Given the description of an element on the screen output the (x, y) to click on. 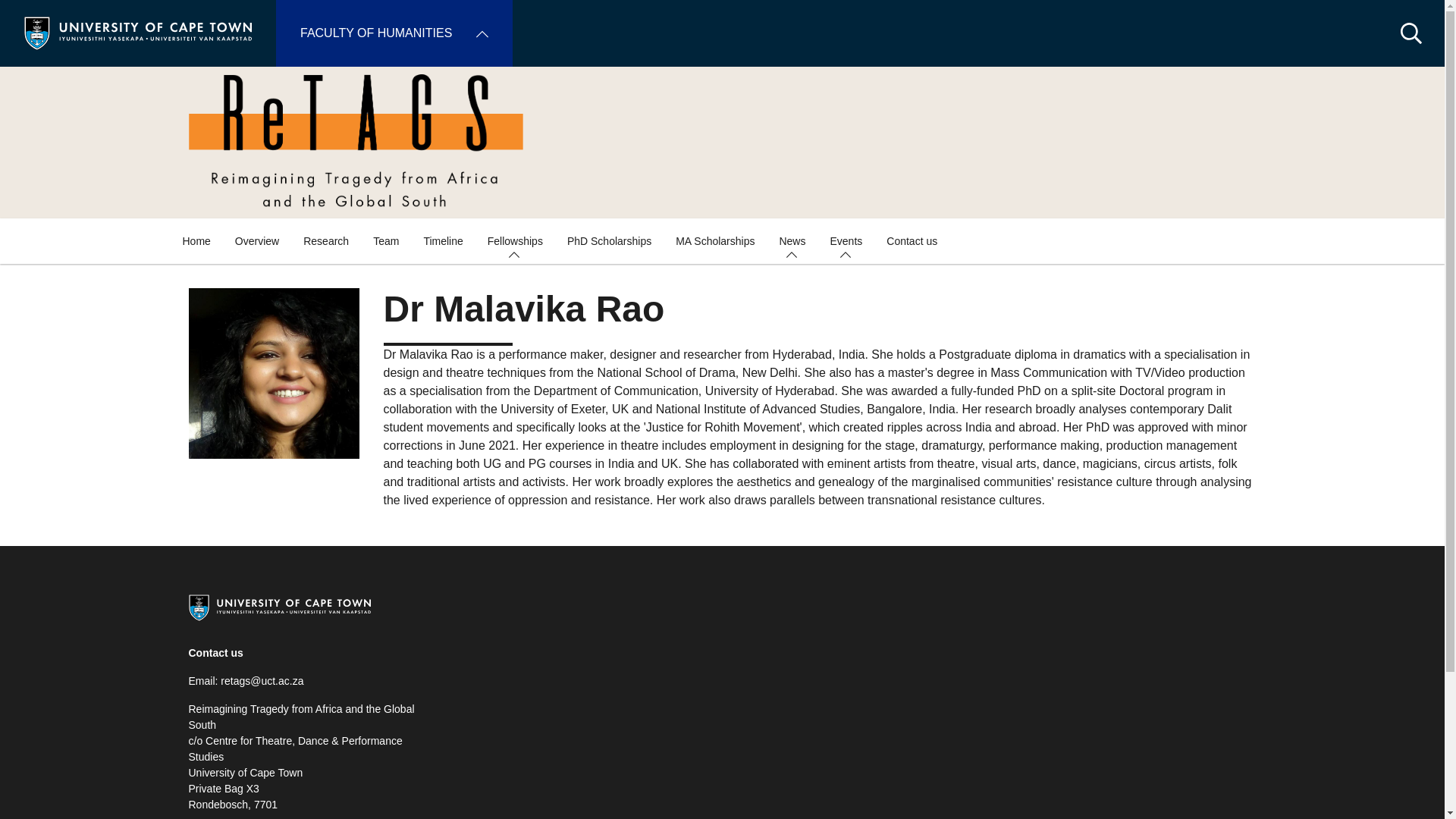
Home (196, 240)
Submit (32, 15)
Team (385, 240)
News (791, 240)
Home (137, 31)
FACULTY OF HUMANITIES (394, 33)
PhD Scholarships (608, 240)
Timeline (442, 240)
Fellowships (515, 240)
Overview (256, 240)
